Given the description of an element on the screen output the (x, y) to click on. 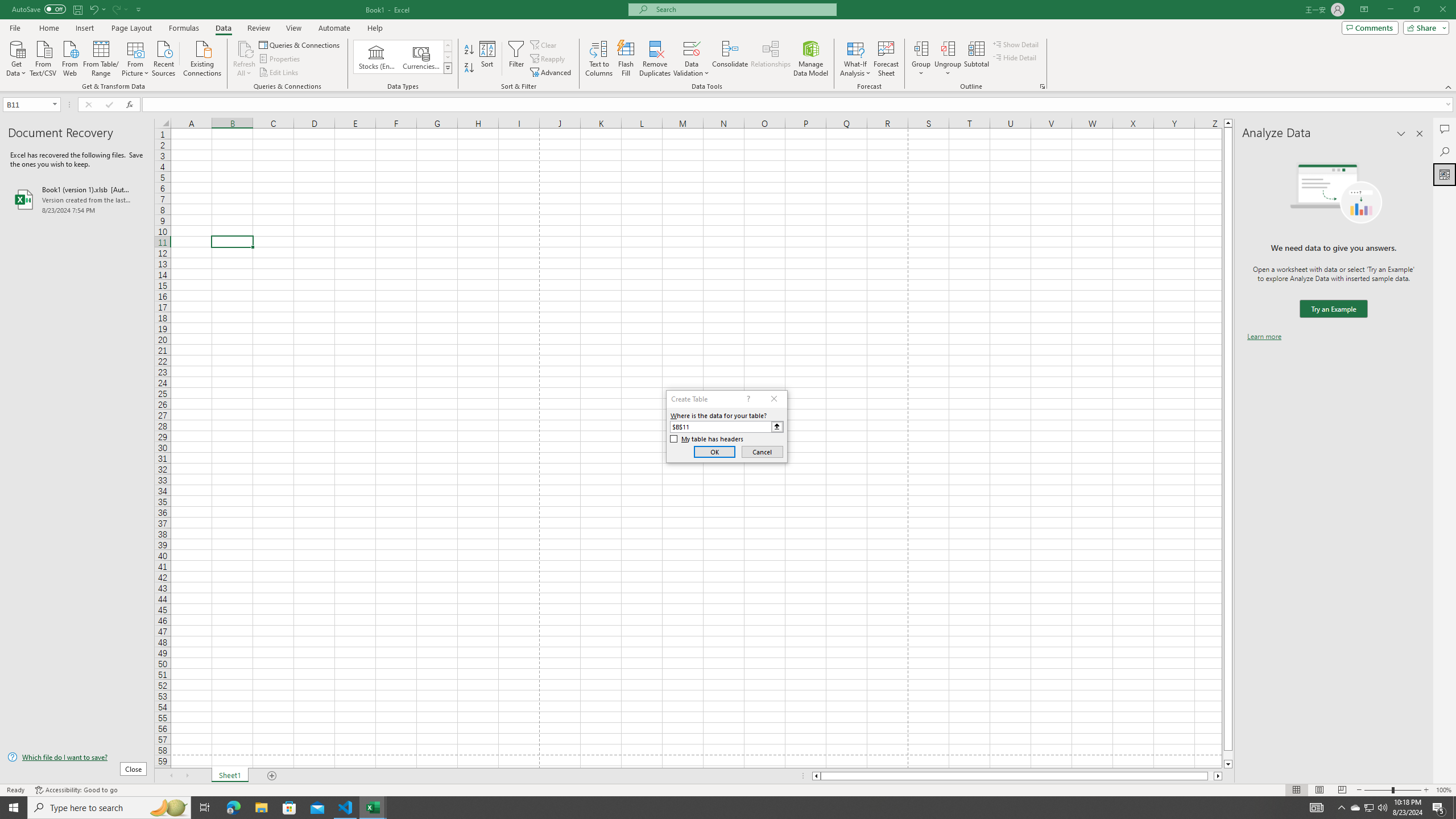
Sort... (487, 58)
Group... (921, 58)
Group and Outline Settings (1042, 85)
Advanced... (551, 72)
Page down (1228, 755)
Subtotal (976, 58)
Zoom In (1426, 790)
Analyze Data (1444, 173)
Column left (815, 775)
Close pane (1419, 133)
Sort Z to A (469, 67)
